Given the description of an element on the screen output the (x, y) to click on. 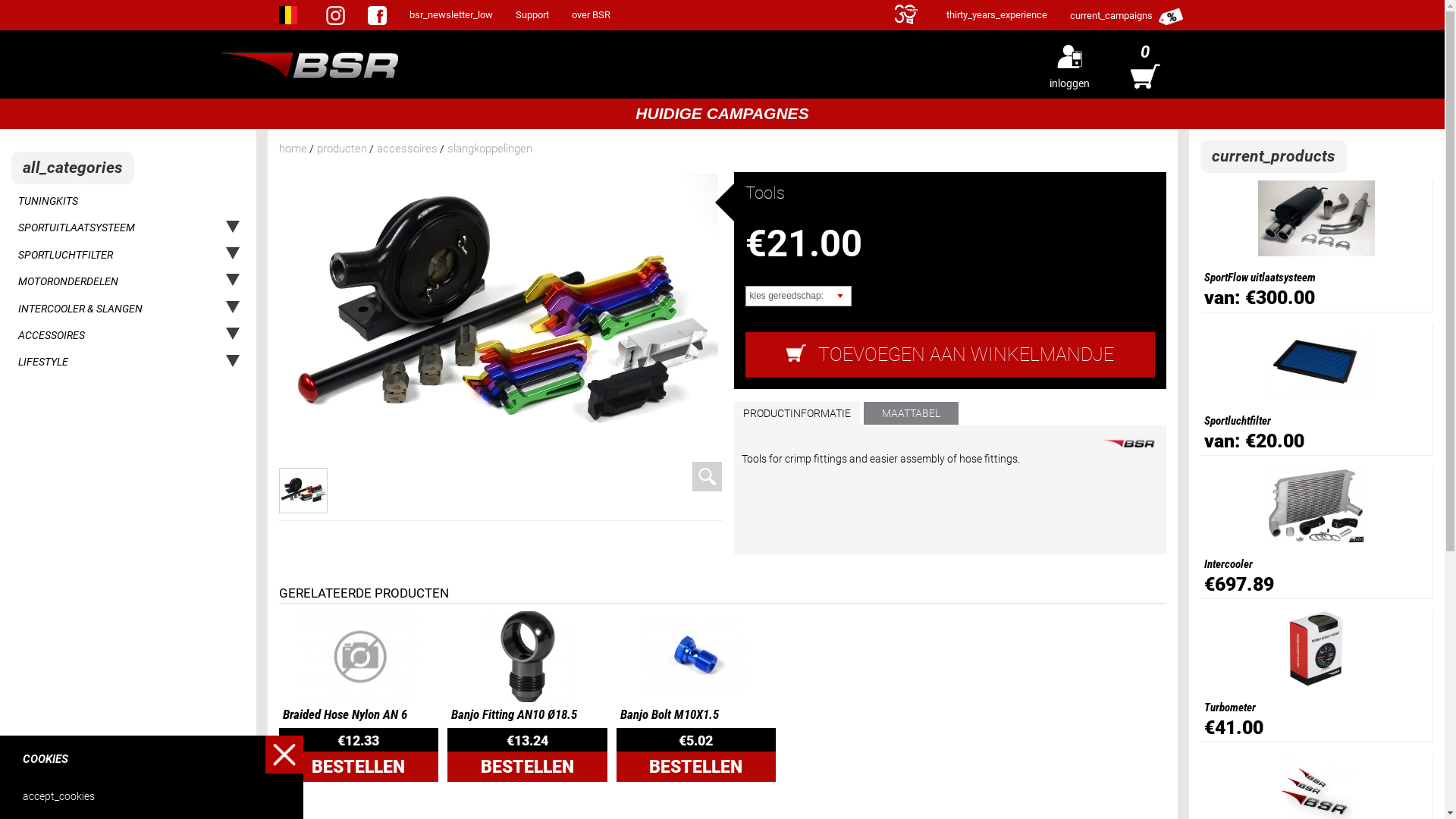
HUIDIGE CAMPAGNES Element type: text (721, 115)
slangkoppelingen Element type: text (489, 148)
current_campaigns Element type: text (1126, 15)
INTERCOOLER & SLANGEN Element type: text (94, 308)
ACCESSOIRES Element type: text (94, 335)
over BSR Element type: text (590, 14)
bsr_newsletter_low Element type: text (450, 14)
TUNINGKITS Element type: text (94, 200)
LIFESTYLE Element type: text (94, 361)
home Element type: text (293, 148)
MOTORONDERDELEN Element type: text (94, 281)
TOEVOEGEN AAN WINKELMANDJE Element type: text (949, 354)
SPORTLUCHTFILTER Element type: text (94, 254)
0 Element type: text (1145, 64)
accessoires Element type: text (406, 148)
thirty_years_experience Element type: text (996, 14)
Support Element type: text (532, 14)
SPORTUITLAATSYSTEEM Element type: text (94, 227)
producten Element type: text (341, 148)
